Given the description of an element on the screen output the (x, y) to click on. 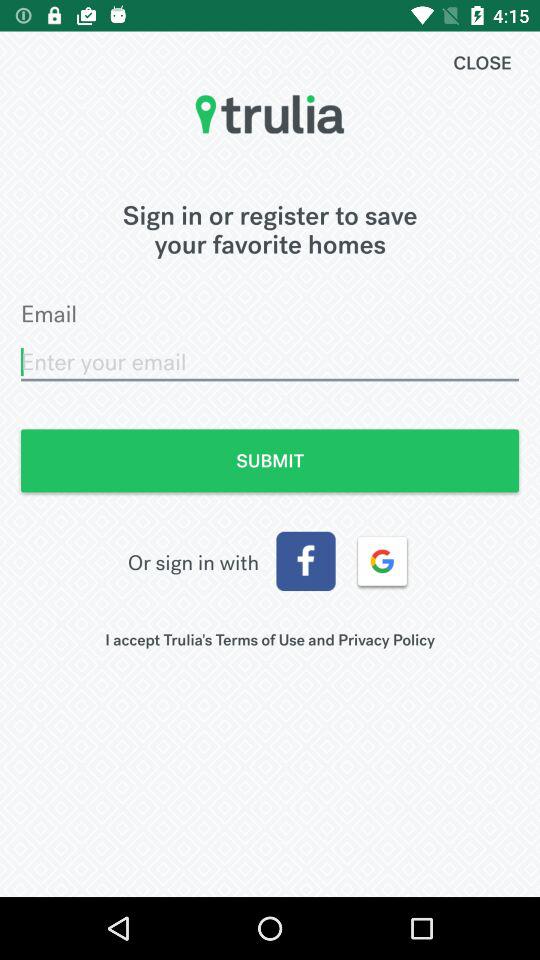
flip until i accept trulia item (270, 639)
